Given the description of an element on the screen output the (x, y) to click on. 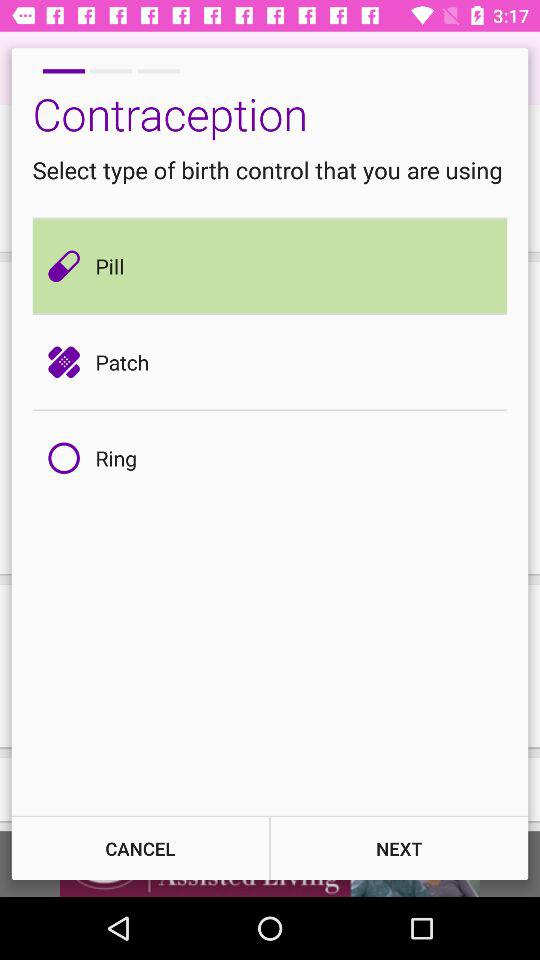
choose cancel icon (140, 848)
